Given the description of an element on the screen output the (x, y) to click on. 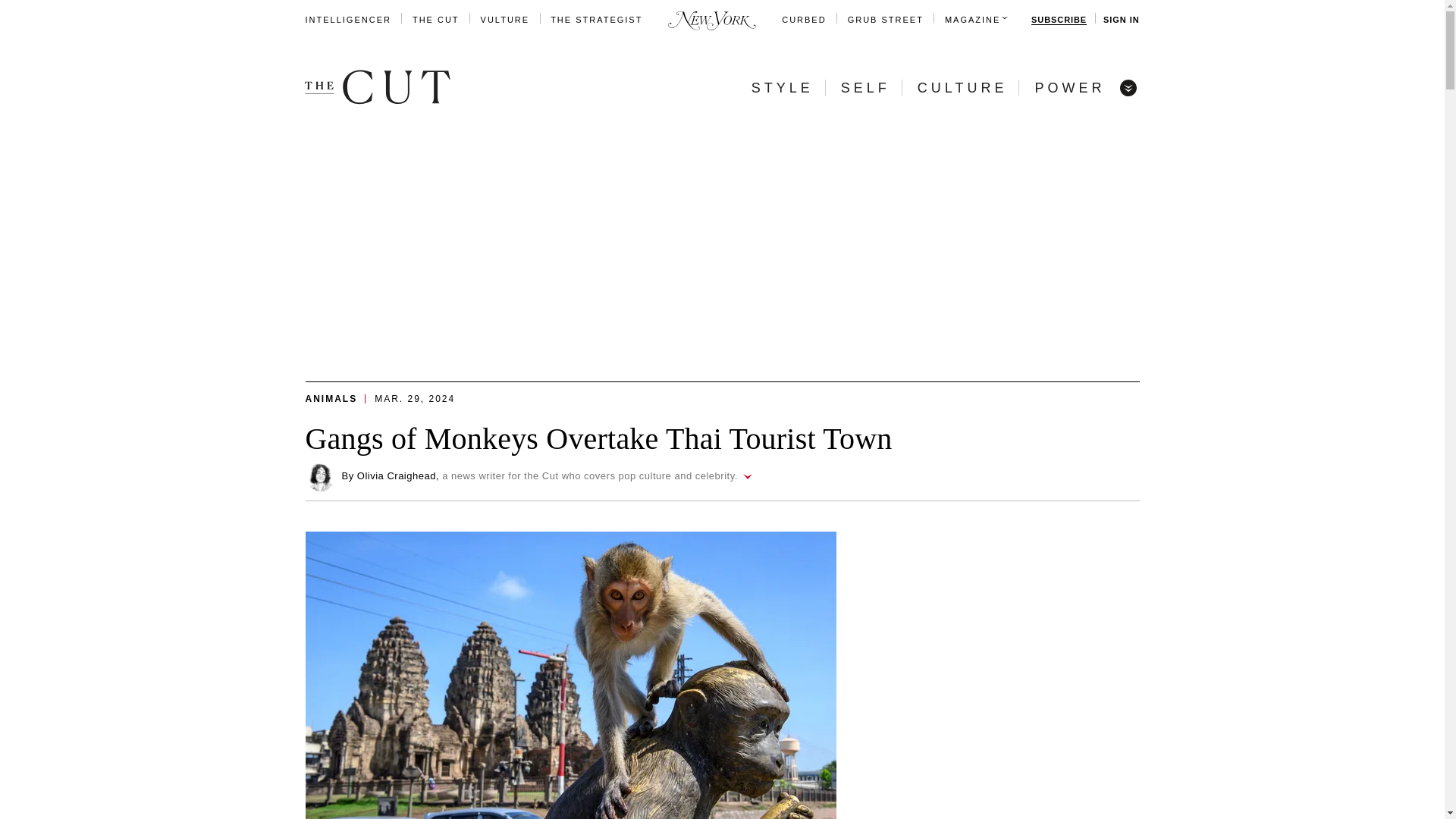
MAGAZINE (972, 19)
STYLE (782, 87)
SIGN IN (1120, 19)
Menu (1127, 87)
THE STRATEGIST (596, 19)
SUBSCRIBE (1058, 19)
CULTURE (962, 87)
THE CUT (436, 19)
POWER (1069, 87)
SELF (865, 87)
